Given the description of an element on the screen output the (x, y) to click on. 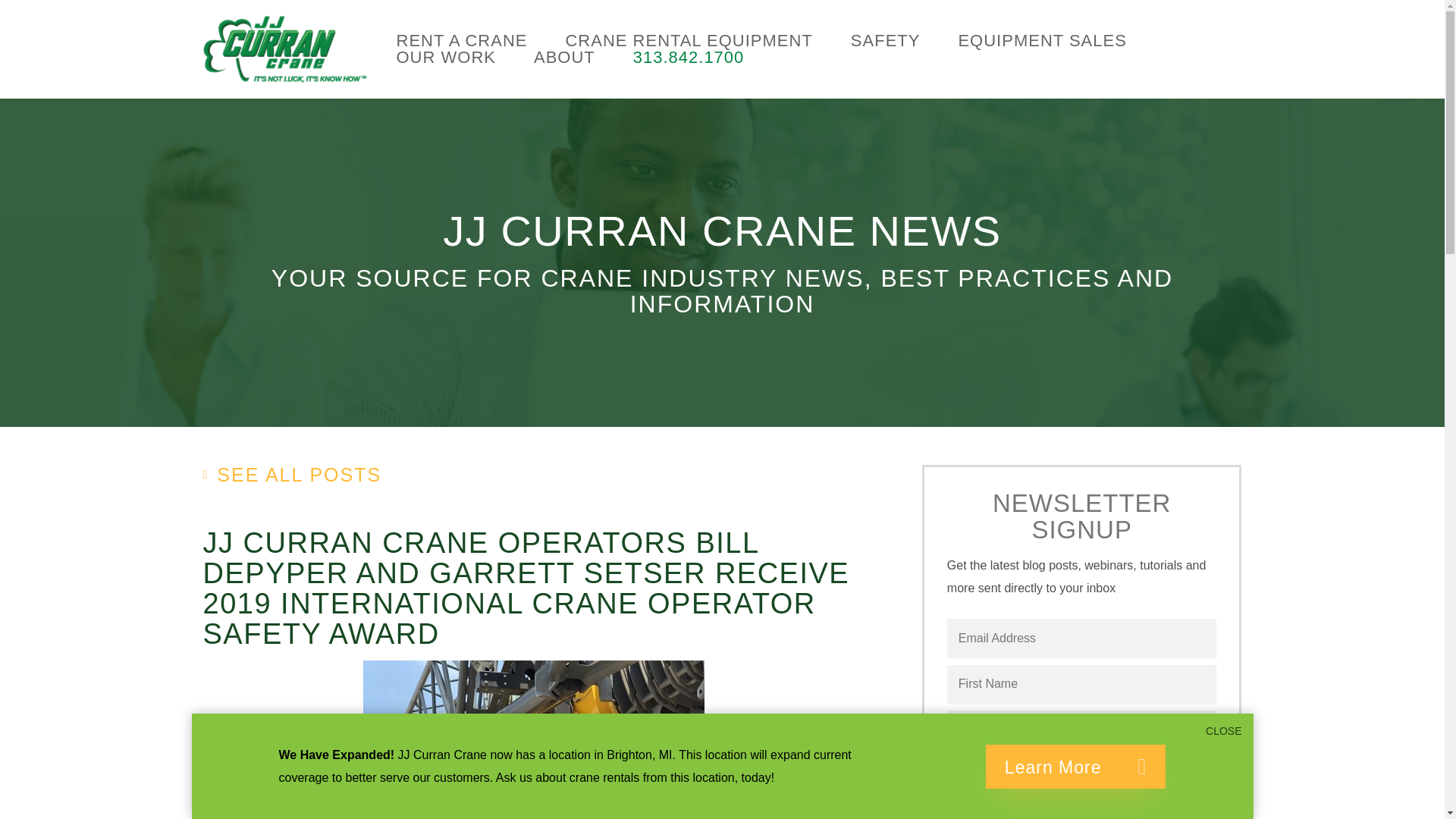
CRANE RENTAL EQUIPMENT (688, 40)
Safety (885, 40)
Sign Up! (1082, 810)
SAFETY (885, 40)
EQUIPMENT SALES (1041, 40)
Our Work (445, 57)
Sign Up! (1082, 810)
About (564, 57)
Crane Rental Equipment (688, 40)
Equipment Sales (1041, 40)
Rent A Crane (461, 40)
RENT A CRANE (461, 40)
ABOUT (564, 57)
SEE ALL POSTS (292, 474)
313.842.1700 (688, 57)
